Given the description of an element on the screen output the (x, y) to click on. 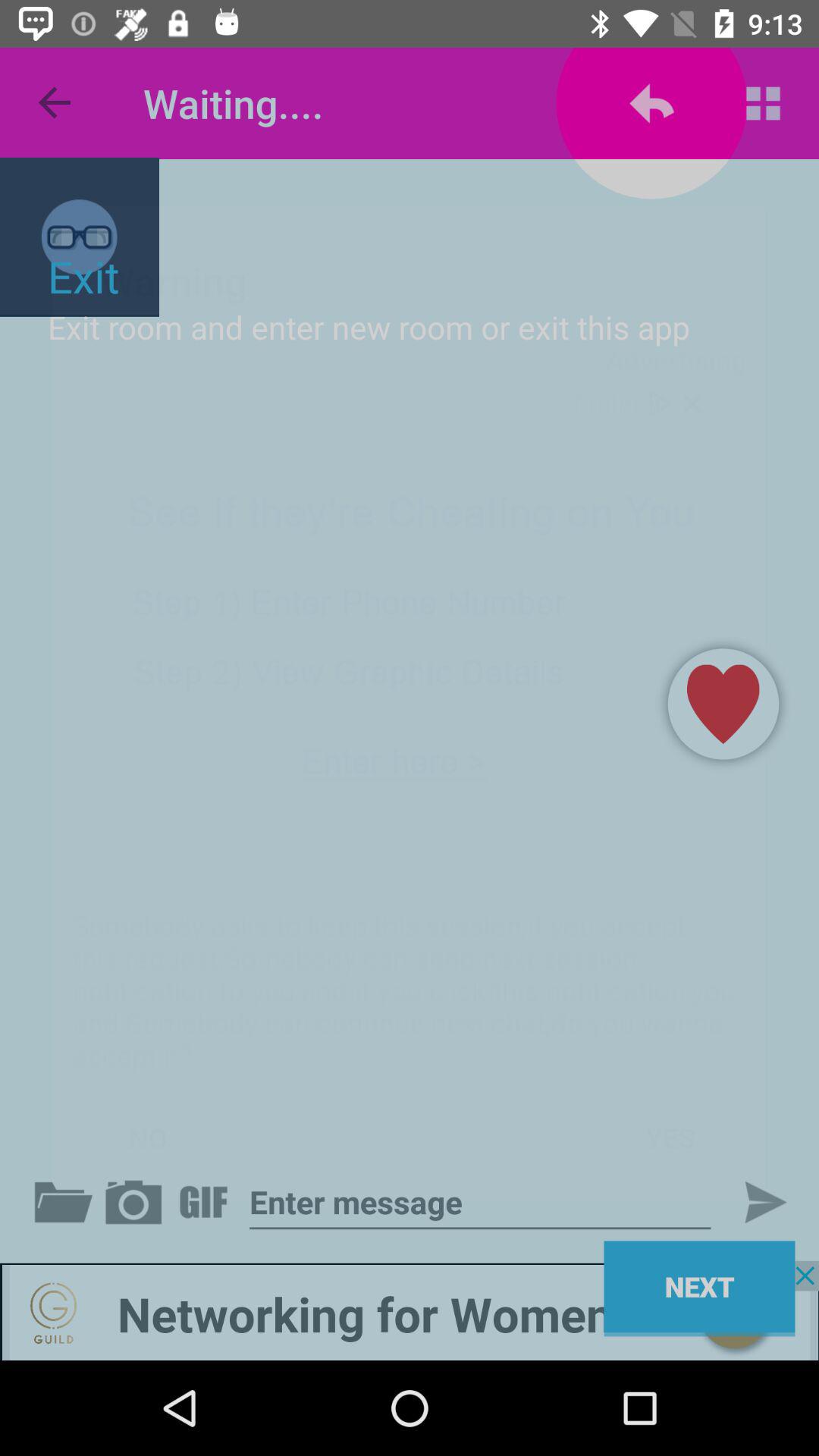
go to next (479, 1202)
